Given the description of an element on the screen output the (x, y) to click on. 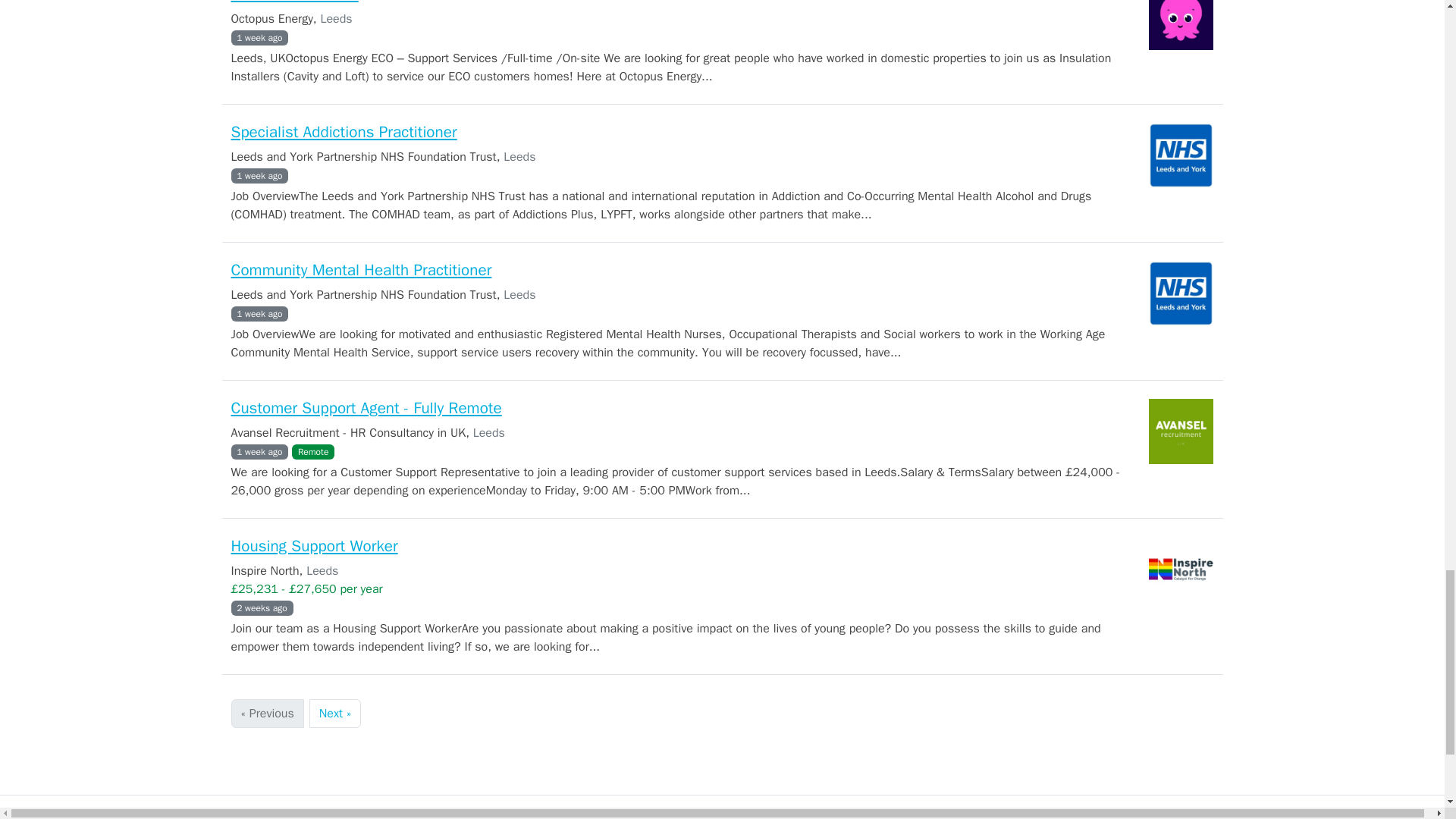
Community Mental Health Practitioner (361, 270)
Customer Support Agent - Fully Remote (365, 407)
Housing Support Worker (313, 546)
Insulation Installer (294, 2)
Specialist Addictions Practitioner (343, 131)
